Given the description of an element on the screen output the (x, y) to click on. 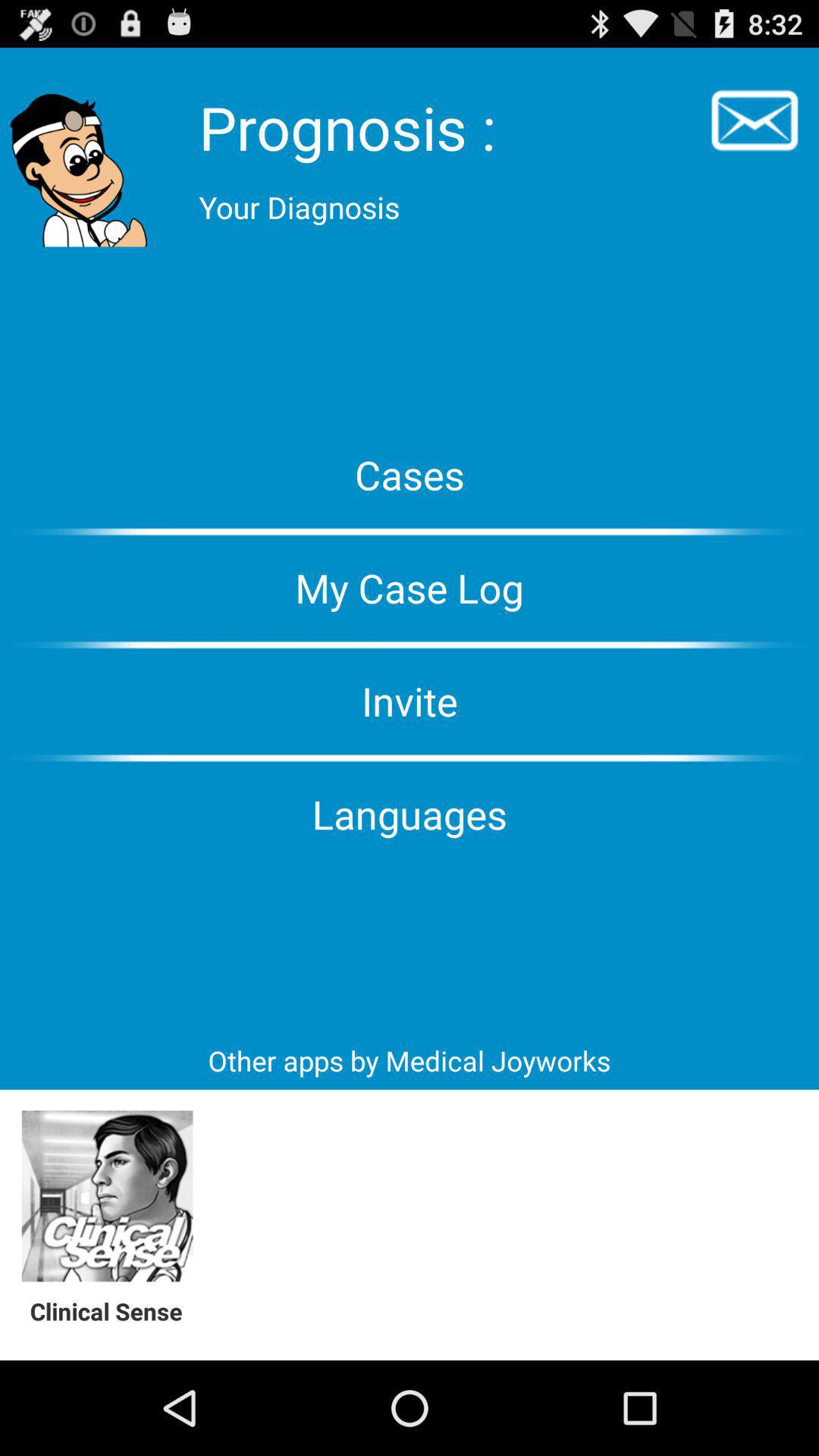
scroll to the languages item (409, 813)
